Given the description of an element on the screen output the (x, y) to click on. 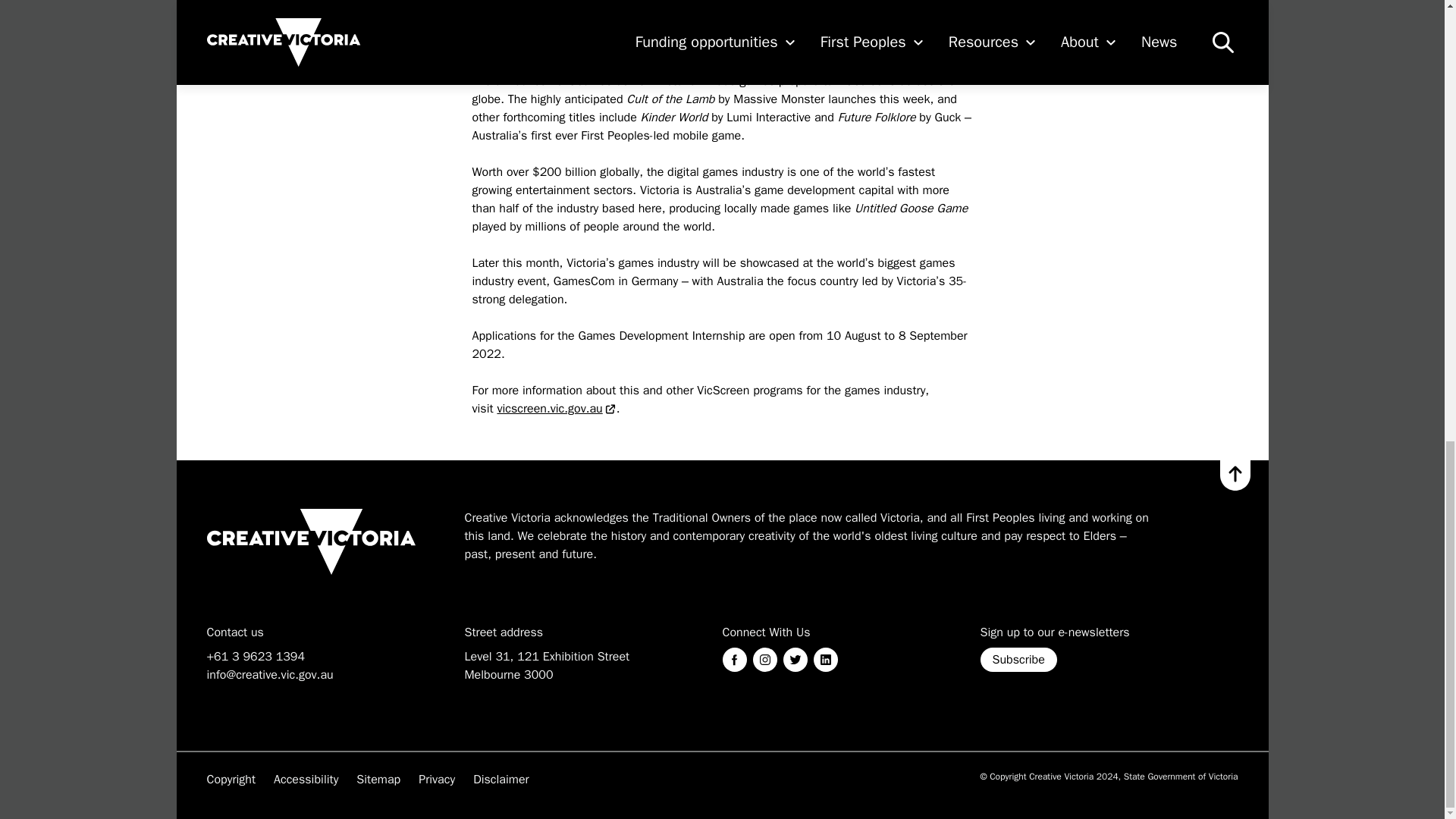
Visit the Creative Victoria Twitter page (794, 659)
Privacy (436, 779)
Sitemap (378, 779)
Visit the Creative Victoria Instagram page (764, 659)
Subscribe (1018, 659)
Visit the Creative Victoria homepage (310, 541)
Copyright (231, 779)
Visit the Creative Victoria Facebook page (733, 659)
vicscreen.vic.gov.au (555, 408)
Visit the Creative Victoria LinkedIn page (824, 659)
